Given the description of an element on the screen output the (x, y) to click on. 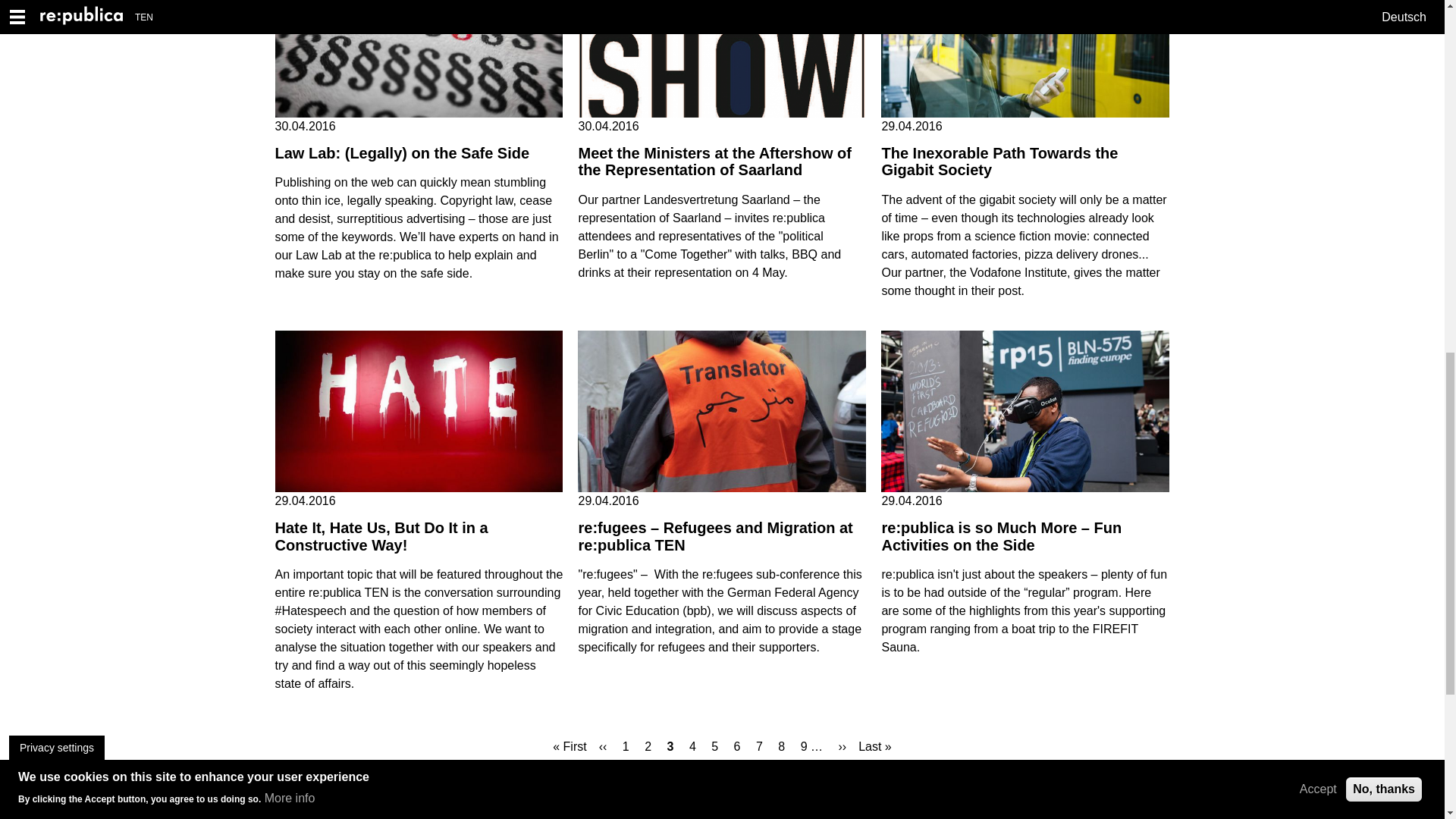
paragraph.jpg (418, 58)
Go to previous page (603, 745)
hate.jpg (418, 411)
vodafone.jpg (1024, 58)
Go to first page (569, 745)
migration.jpg (722, 411)
